Given the description of an element on the screen output the (x, y) to click on. 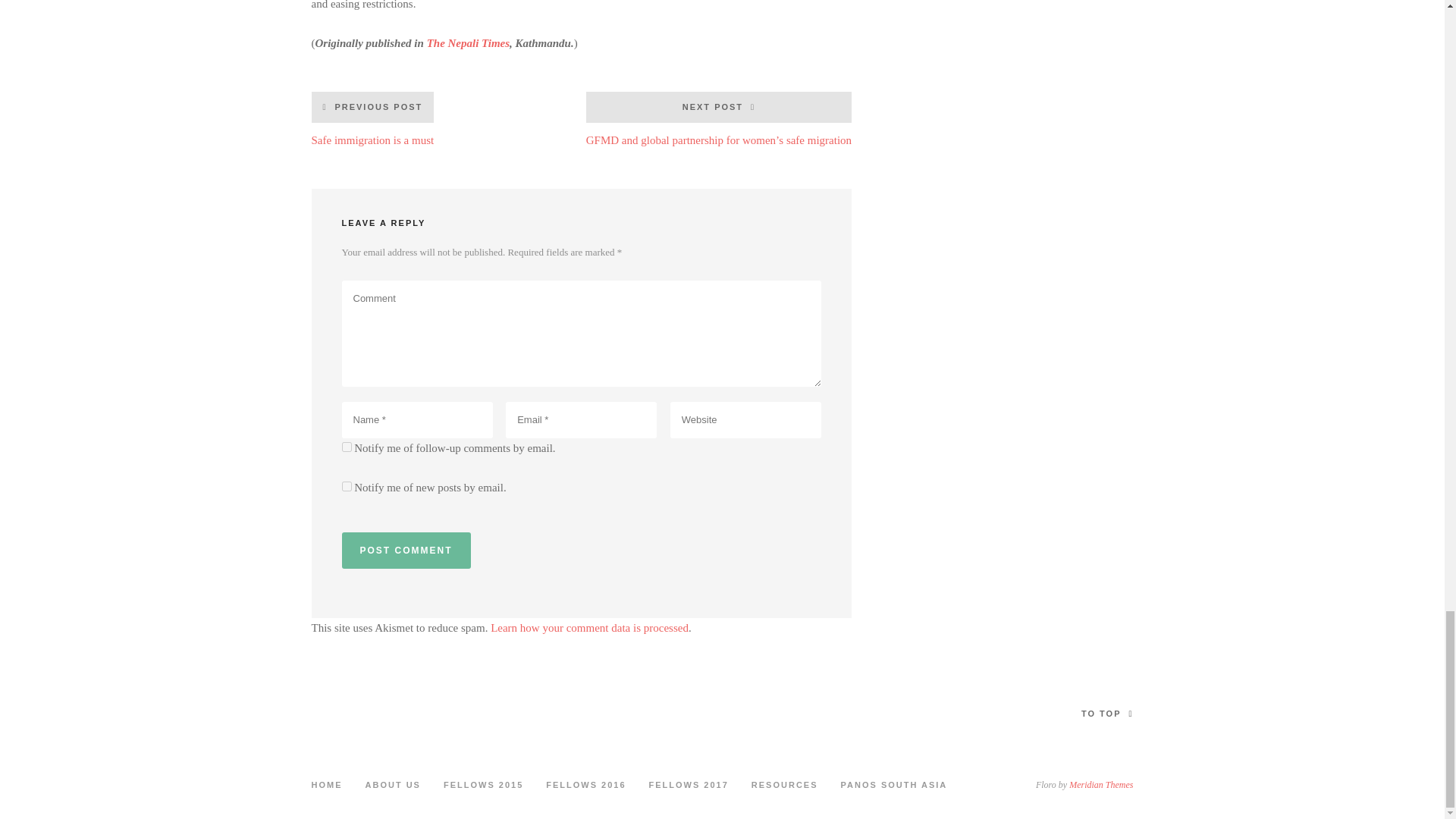
Post Comment (405, 550)
subscribe (345, 447)
The Nepali Times (467, 42)
Learn how your comment data is processed (589, 627)
Post Comment (405, 550)
subscribe (372, 118)
TO TOP (345, 486)
